Given the description of an element on the screen output the (x, y) to click on. 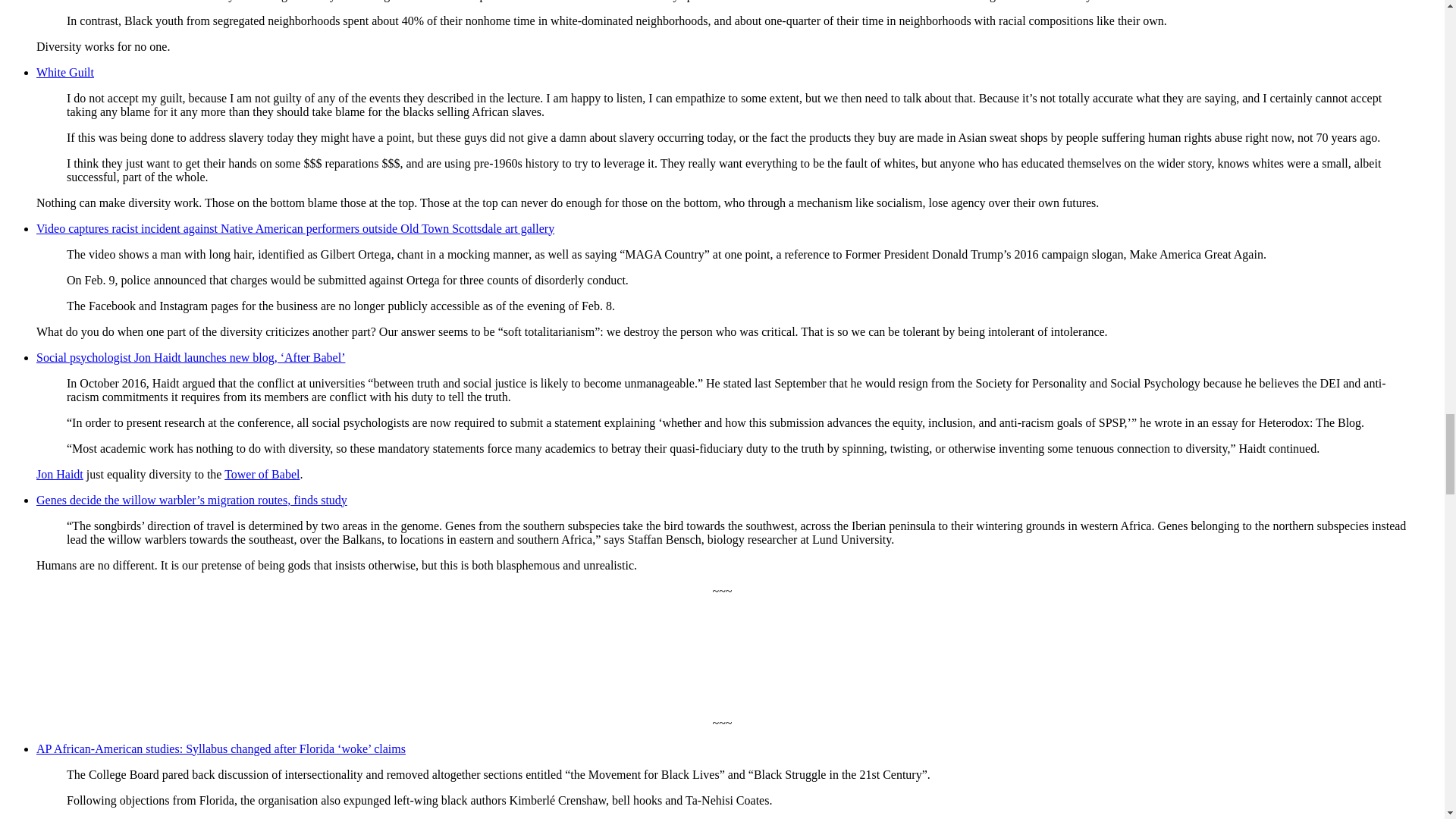
Tower of Babel (261, 473)
Jon Haidt (59, 473)
White Guilt (65, 72)
